Given the description of an element on the screen output the (x, y) to click on. 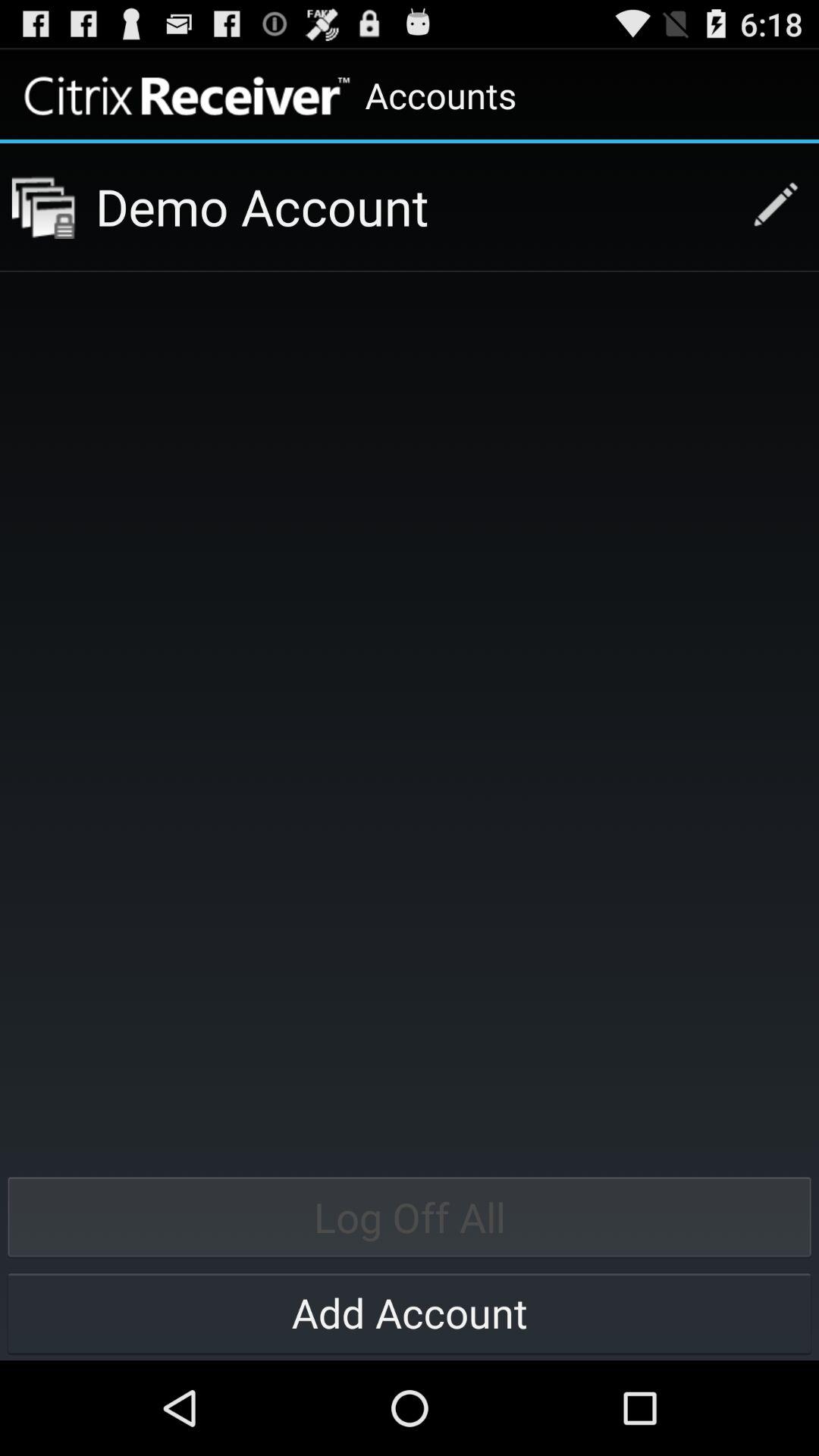
click the icon at the top right corner (768, 206)
